Given the description of an element on the screen output the (x, y) to click on. 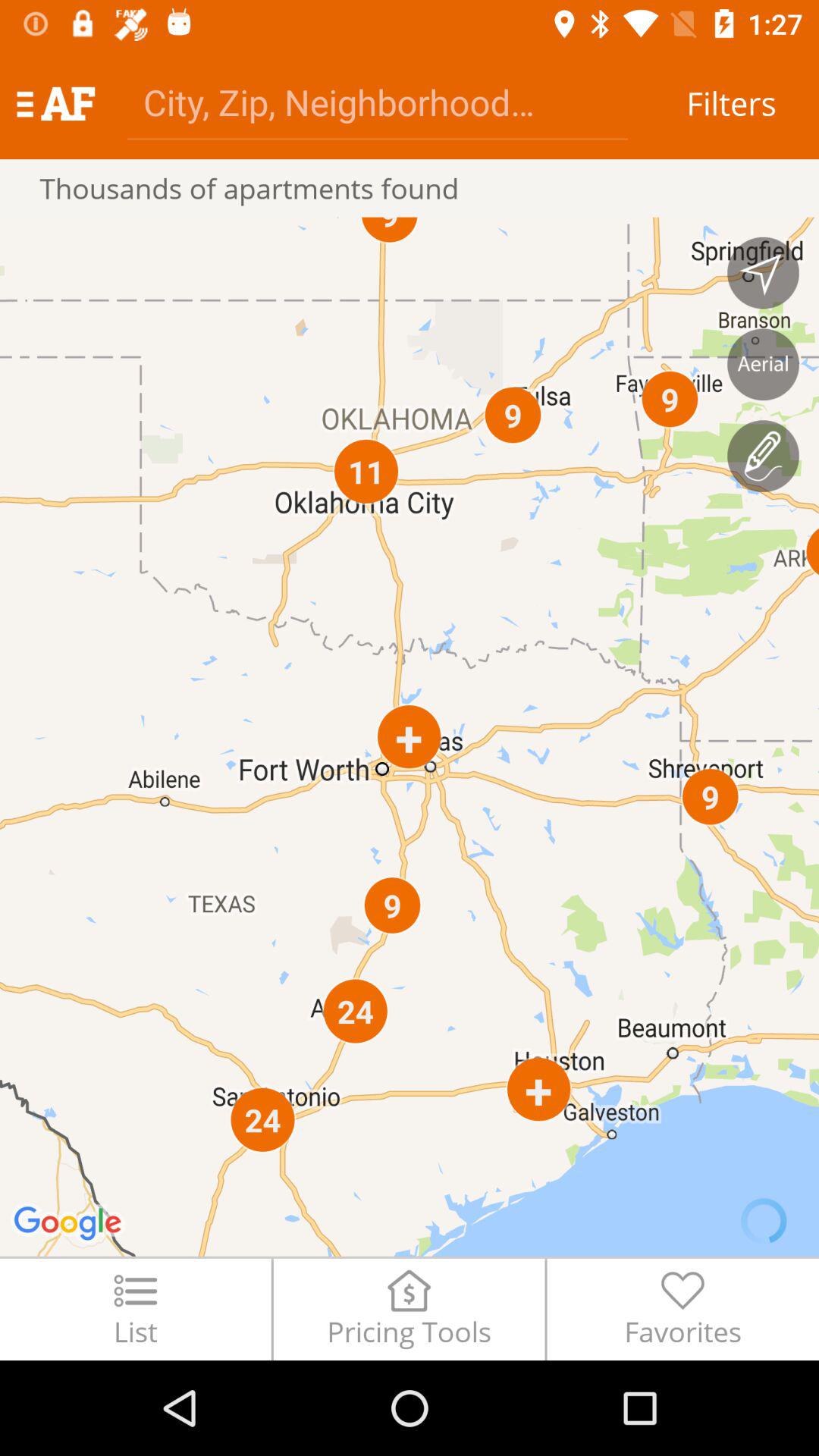
tap the favorites (683, 1309)
